Given the description of an element on the screen output the (x, y) to click on. 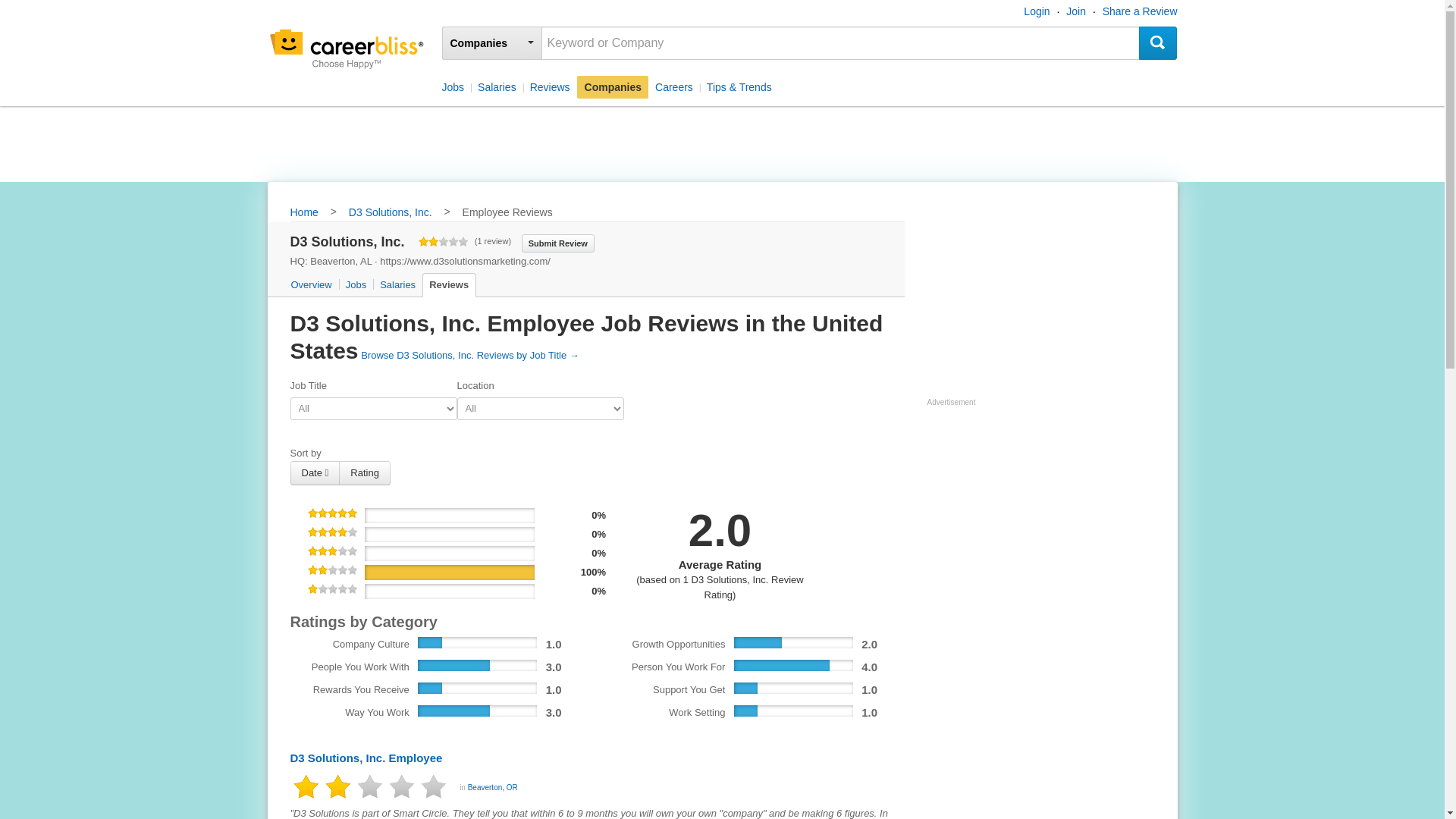
Join (1075, 10)
D3 Solutions, Inc. (390, 212)
Join (1075, 10)
See all reviews at D3 Solutions, Inc. (470, 355)
Share your company review with the CareerBliss community! (557, 242)
Login (1036, 10)
Login (1036, 10)
Careers (673, 87)
Share a Review (1139, 10)
Salaries (396, 284)
